Given the description of an element on the screen output the (x, y) to click on. 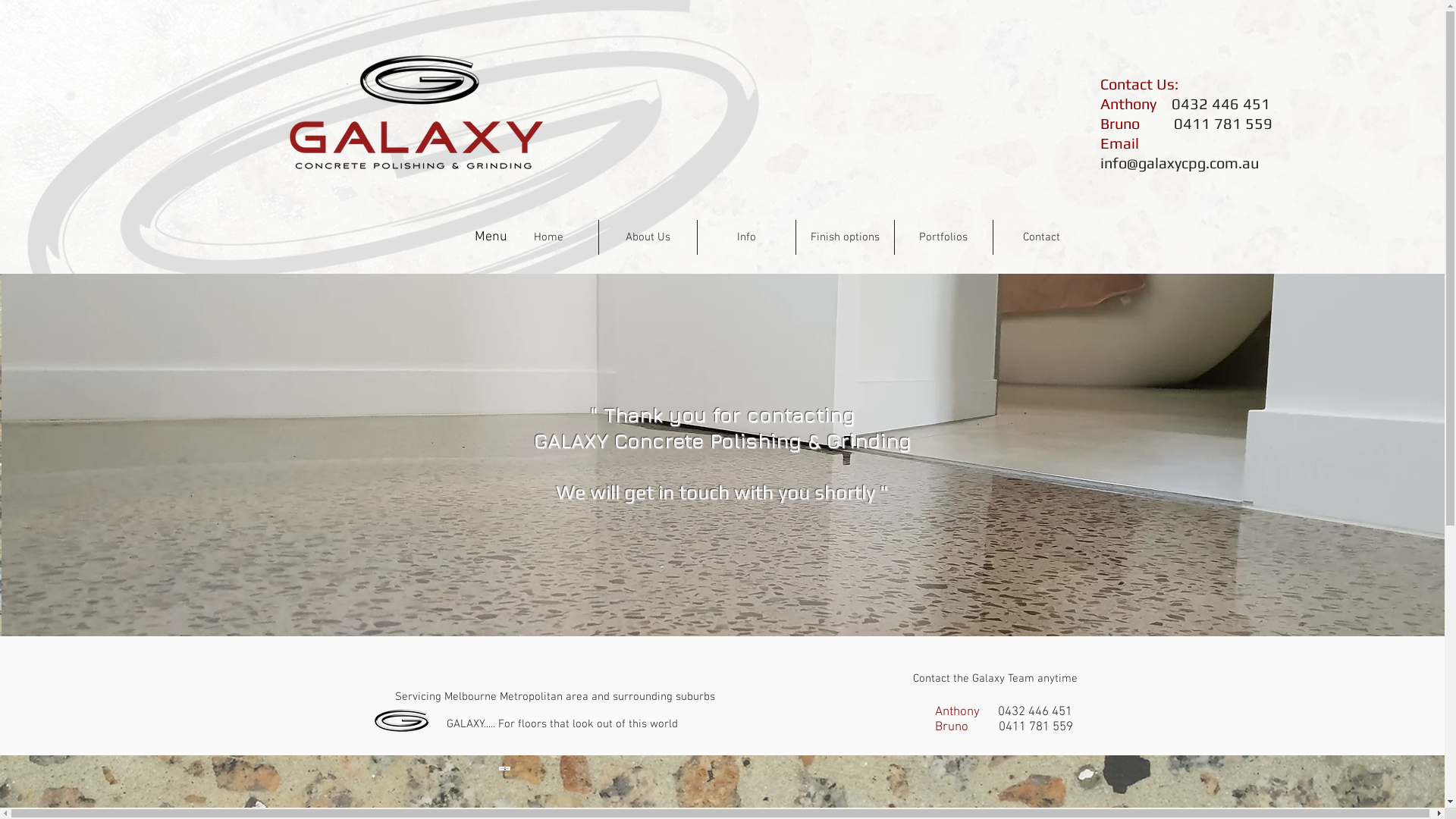
Contact Element type: text (1041, 236)
Info Element type: text (746, 236)
info@galaxycpg.com.au Element type: text (1178, 162)
Embedded Content Element type: hover (422, 768)
About Us Element type: text (647, 236)
Home Element type: text (547, 236)
Portfolios Element type: text (943, 236)
Finish options Element type: text (845, 236)
